Given the description of an element on the screen output the (x, y) to click on. 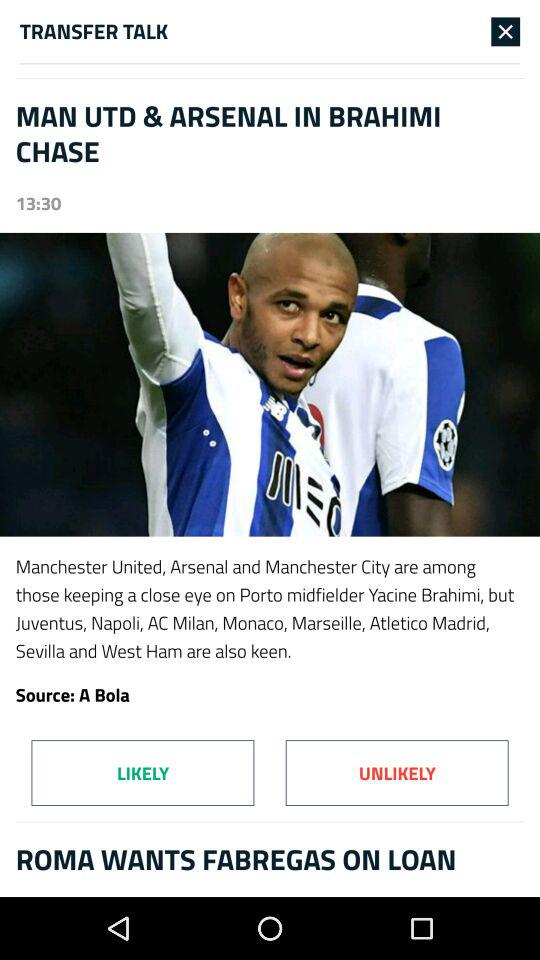
turn off unlikely item (396, 772)
